Given the description of an element on the screen output the (x, y) to click on. 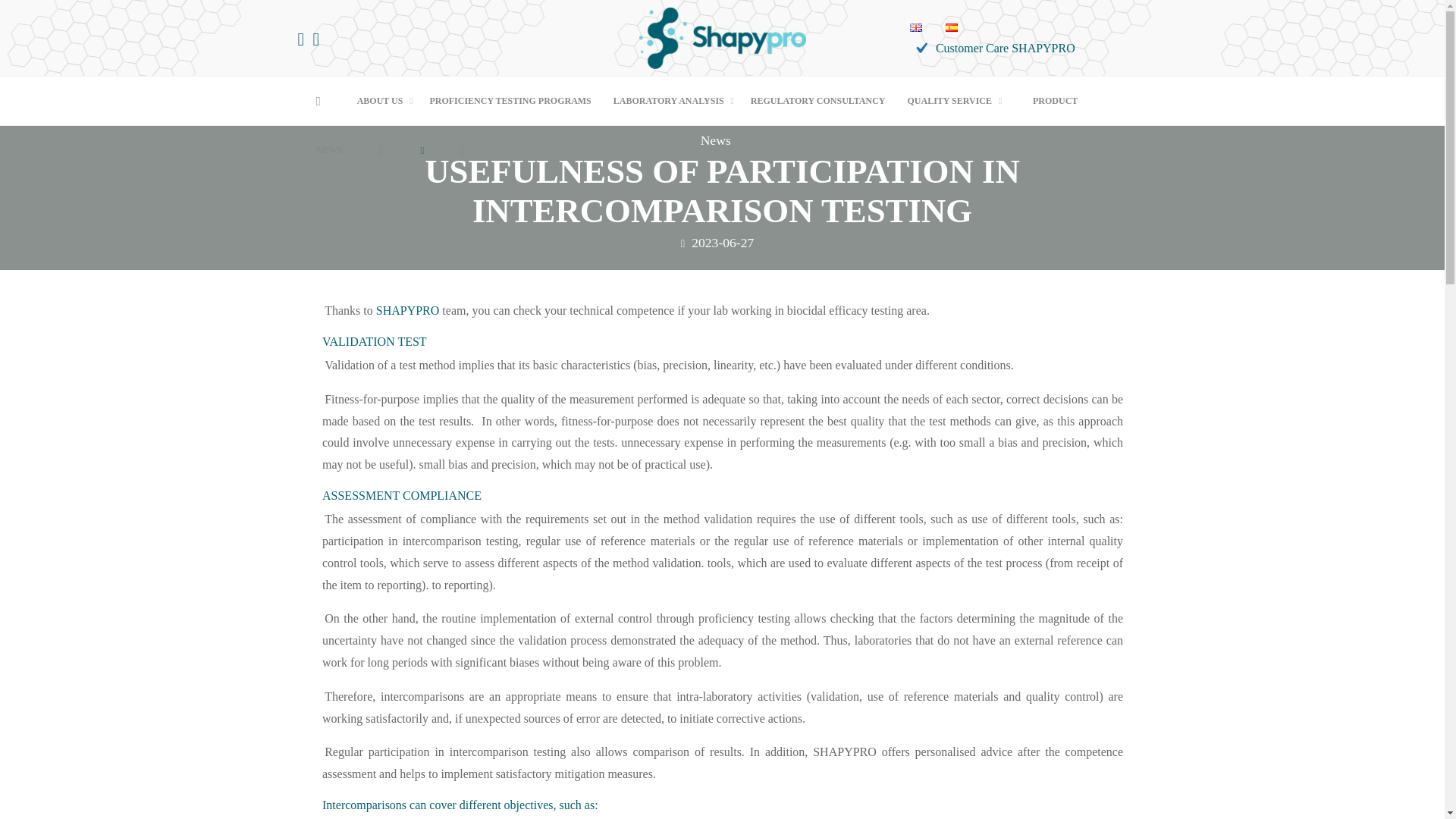
PROFICIENCY TESTING PROGRAMS (509, 101)
ABOUT US (382, 101)
Date (682, 243)
Customer Care SHAPYPRO (992, 48)
Shapypro. Shape your Project (722, 36)
